Given the description of an element on the screen output the (x, y) to click on. 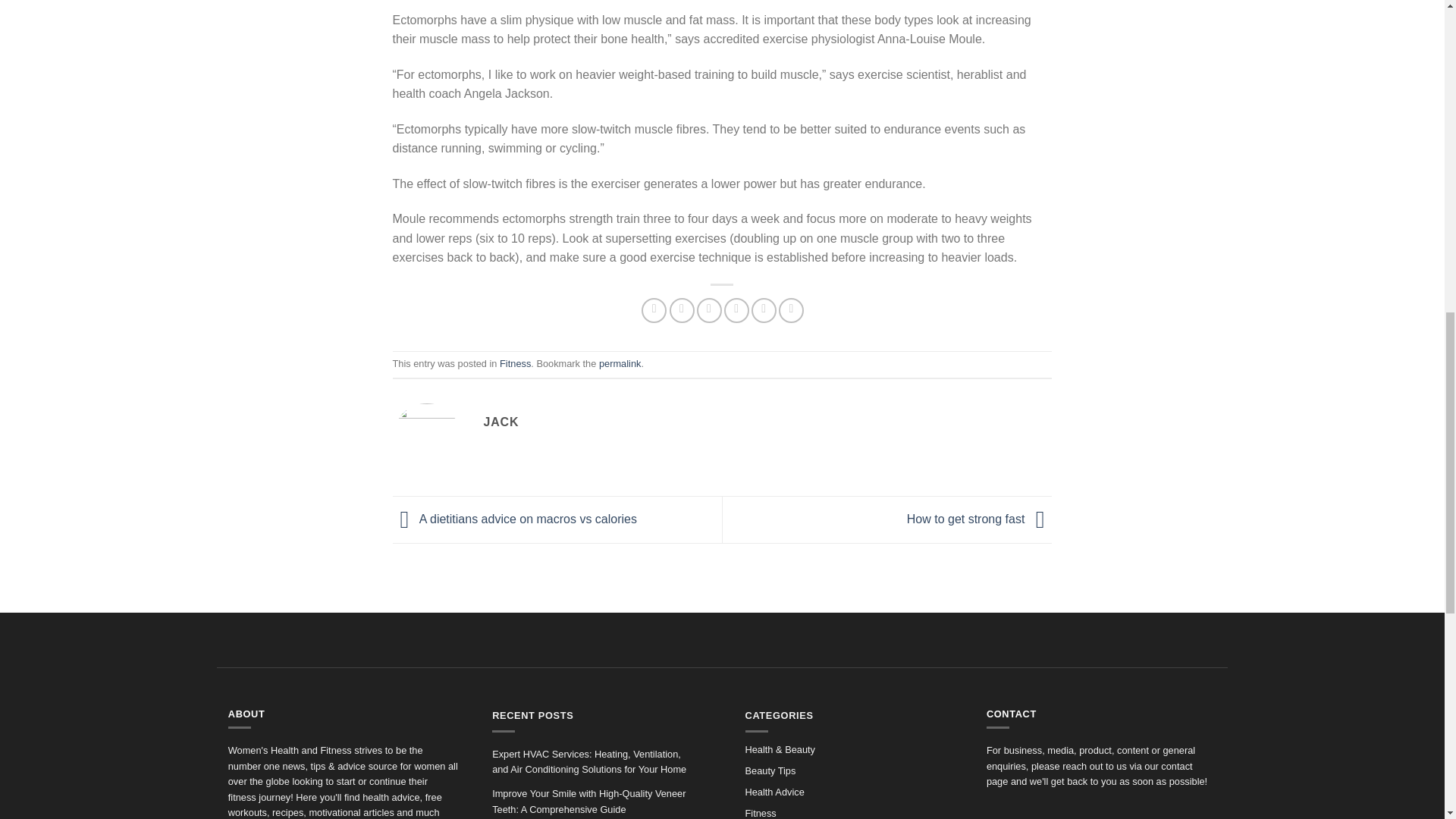
How to get strong fast (979, 518)
Fitness (515, 363)
Permalink to What body shape are you (619, 363)
A dietitians advice on macros vs calories (515, 518)
permalink (619, 363)
